Given the description of an element on the screen output the (x, y) to click on. 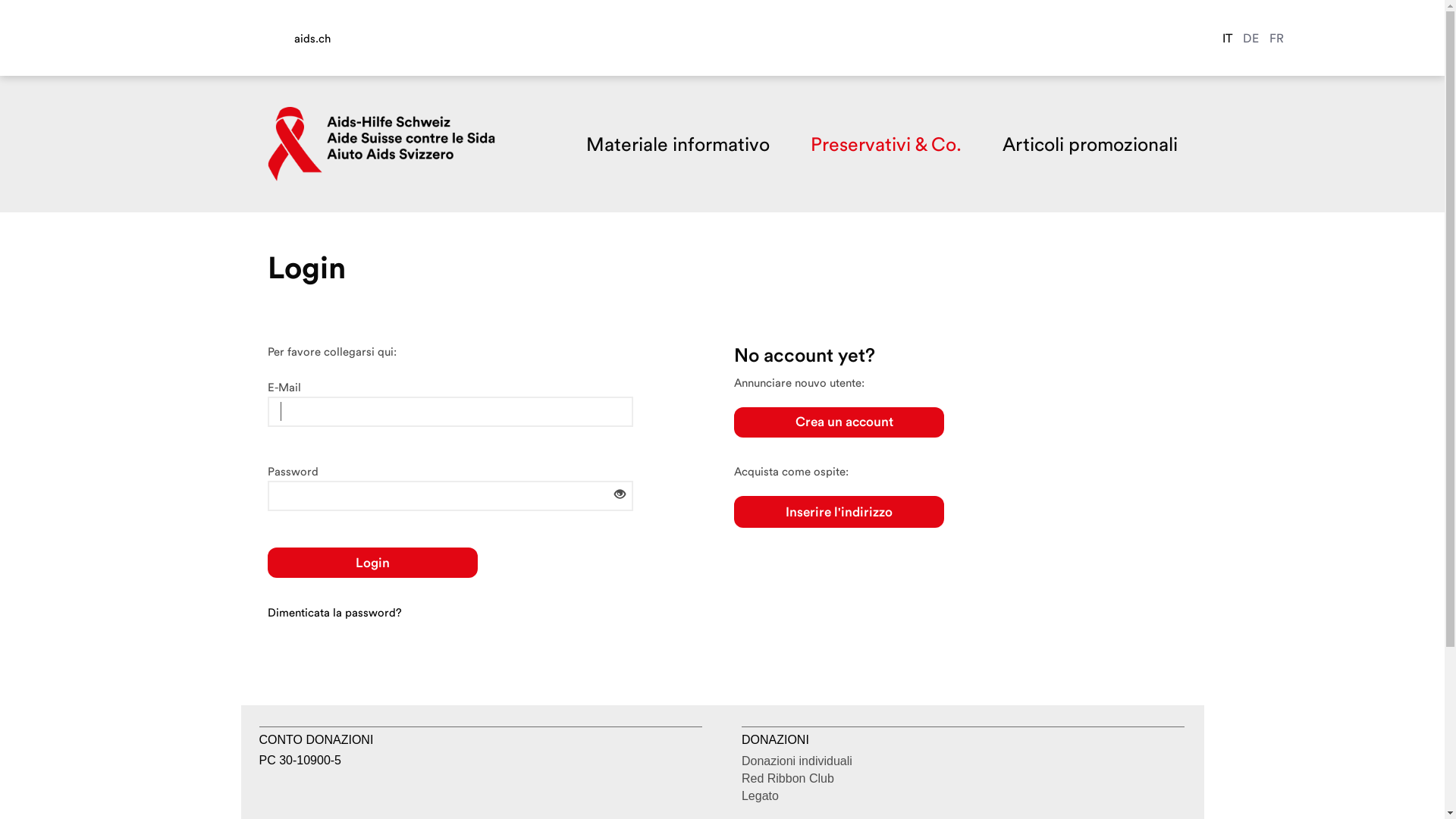
submit Element type: text (22, 8)
Inserire l'indirizzo Element type: text (839, 511)
Visualizza la password Element type: hover (619, 494)
Dimenticata la password? Element type: text (333, 612)
Legato Element type: text (759, 795)
FR Element type: text (1276, 37)
Carrello Element type: hover (1358, 36)
Preservativi & Co. Element type: text (884, 143)
Login Element type: text (371, 562)
Crea un account Element type: text (839, 422)
Red Ribbon Club Element type: text (787, 778)
DE Element type: text (1250, 37)
Articoli promozionali Element type: text (1089, 143)
aids.ch Element type: text (346, 37)
Donazioni individuali Element type: text (796, 761)
Materiale informativo Element type: text (676, 143)
